Given the description of an element on the screen output the (x, y) to click on. 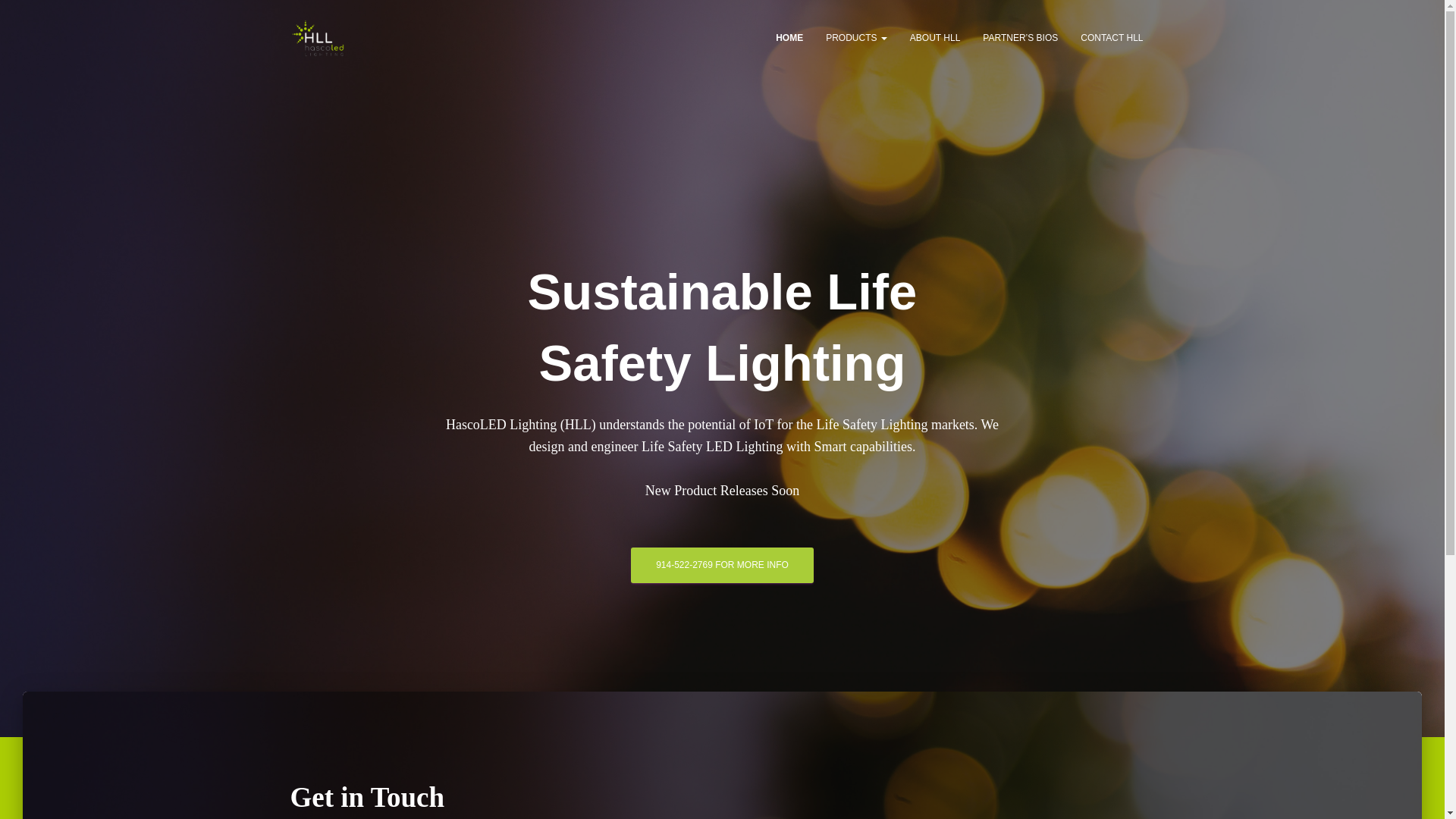
Products (855, 37)
ABOUT HLL (934, 37)
Contact HLL (1111, 37)
CONTACT HLL (1111, 37)
914-522-2769 FOR MORE INFO (721, 565)
914-522-2769 for more Info (721, 565)
Home (788, 37)
About HLL (934, 37)
HOME (788, 37)
PRODUCTS (855, 37)
